Given the description of an element on the screen output the (x, y) to click on. 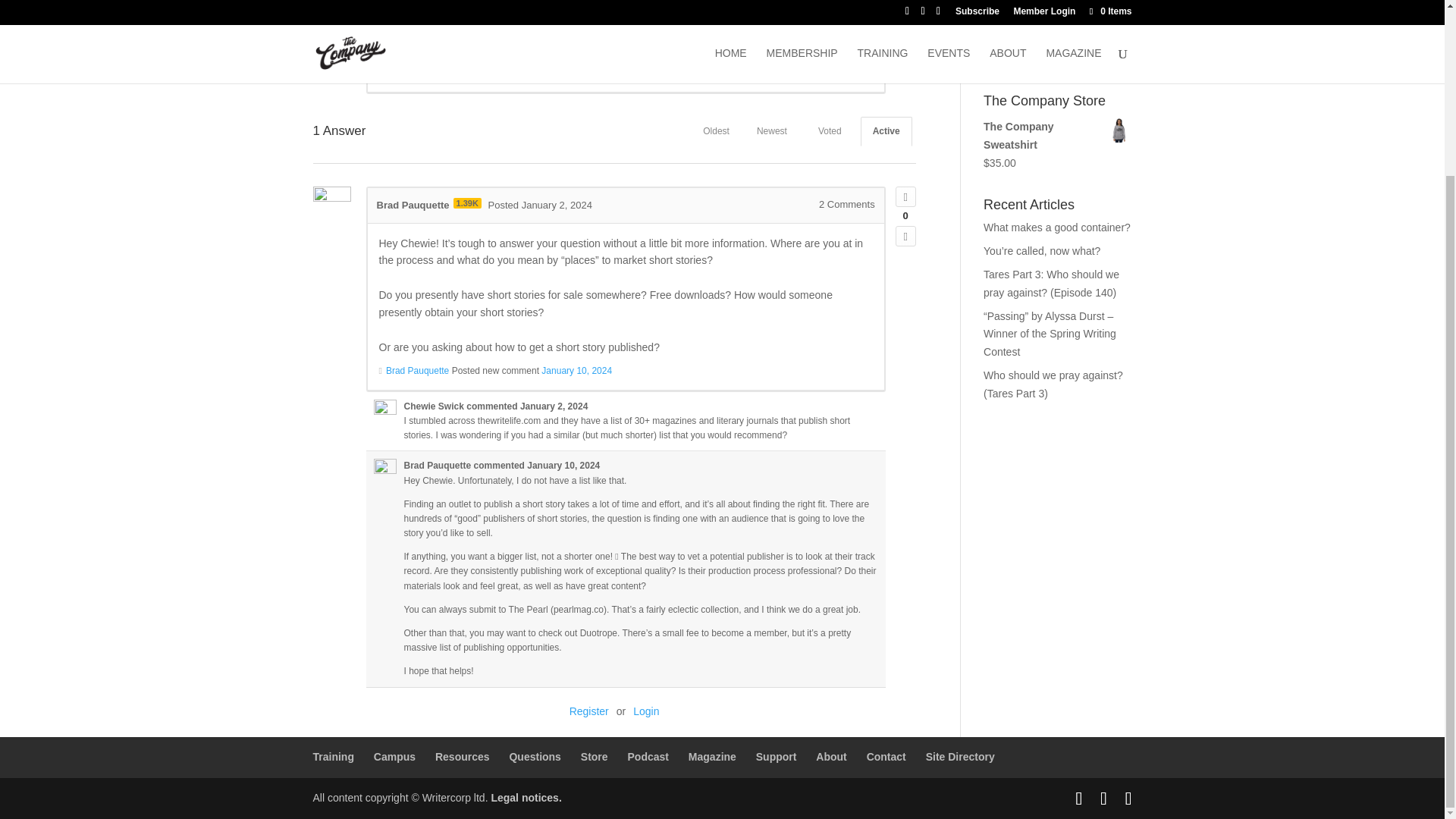
Up vote this post (905, 196)
January 10, 2024 (576, 370)
January 10, 2024 (563, 465)
Posted January 2, 2024 (539, 204)
Brad Pauquette (438, 465)
Chewie Swick (408, 11)
Reputation (452, 9)
Login (646, 711)
Register (588, 711)
Brad Pauquette (416, 370)
